Given the description of an element on the screen output the (x, y) to click on. 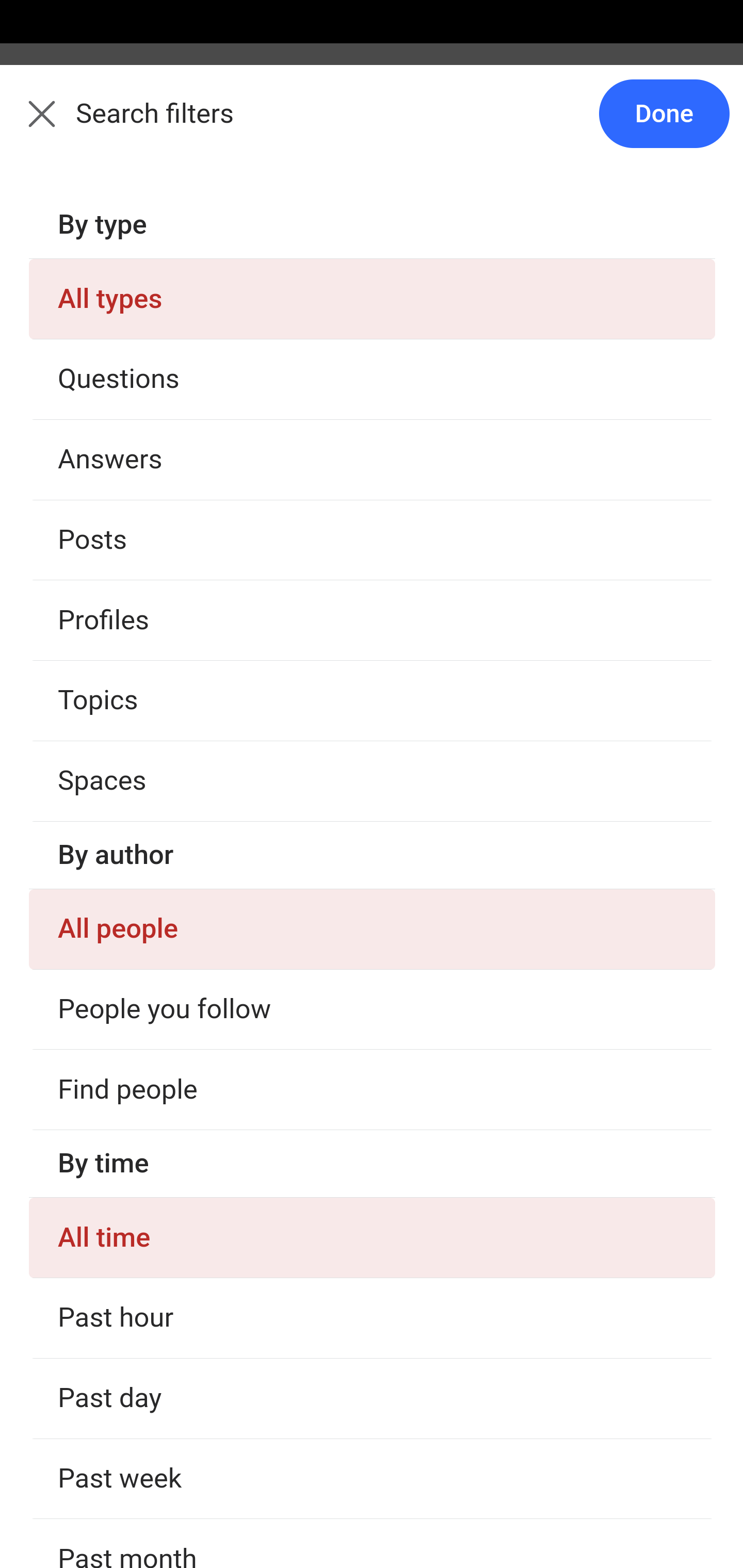
Back Search (371, 125)
1.7K answers 1.7K  answers (95, 458)
Answer (125, 516)
What are cryptocurrencies? (372, 608)
Answer (125, 713)
Answer (125, 912)
How can one invest in cryptocurrency? (372, 1004)
Answer (125, 1109)
Answer (125, 1308)
Why are cryptocurrencies dropping? (372, 1400)
